Given the description of an element on the screen output the (x, y) to click on. 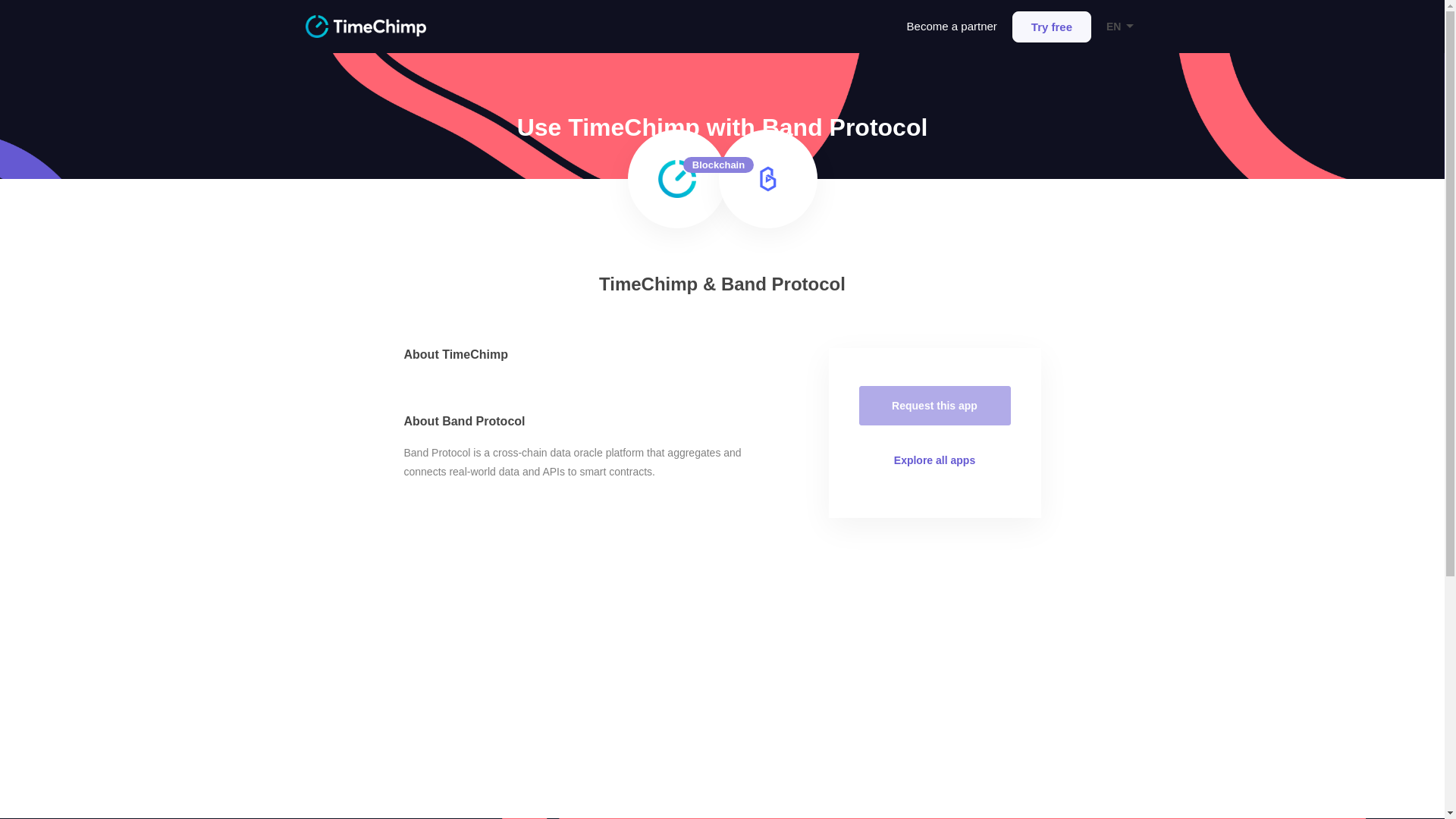
Band Protocol (768, 178)
TimeChimp (364, 26)
Explore all apps (934, 459)
Request this app (934, 405)
Become a partner (952, 25)
Try free (1050, 25)
TimeChimp (676, 178)
